Given the description of an element on the screen output the (x, y) to click on. 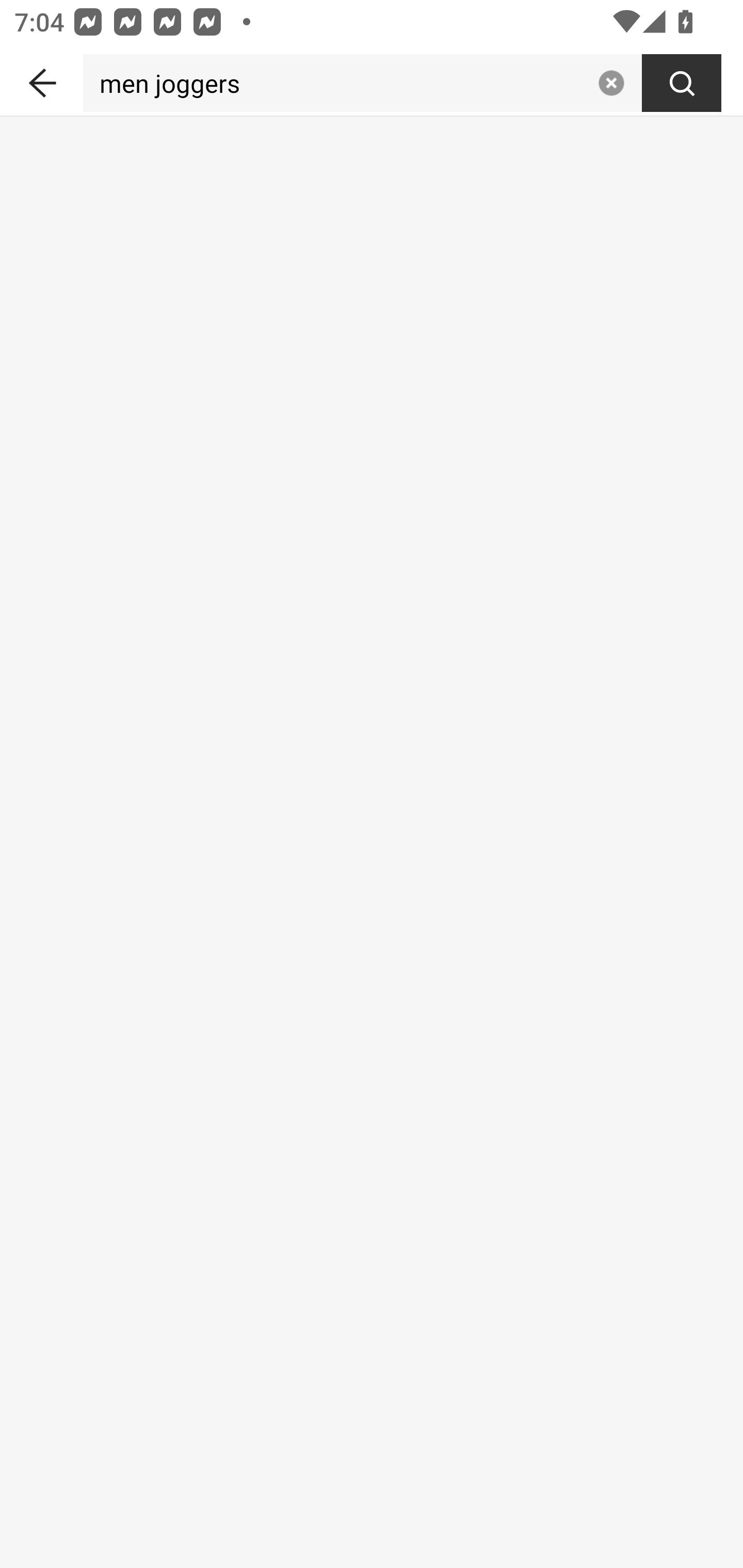
BACK (41, 79)
men joggers (336, 82)
Clear (610, 82)
